Given the description of an element on the screen output the (x, y) to click on. 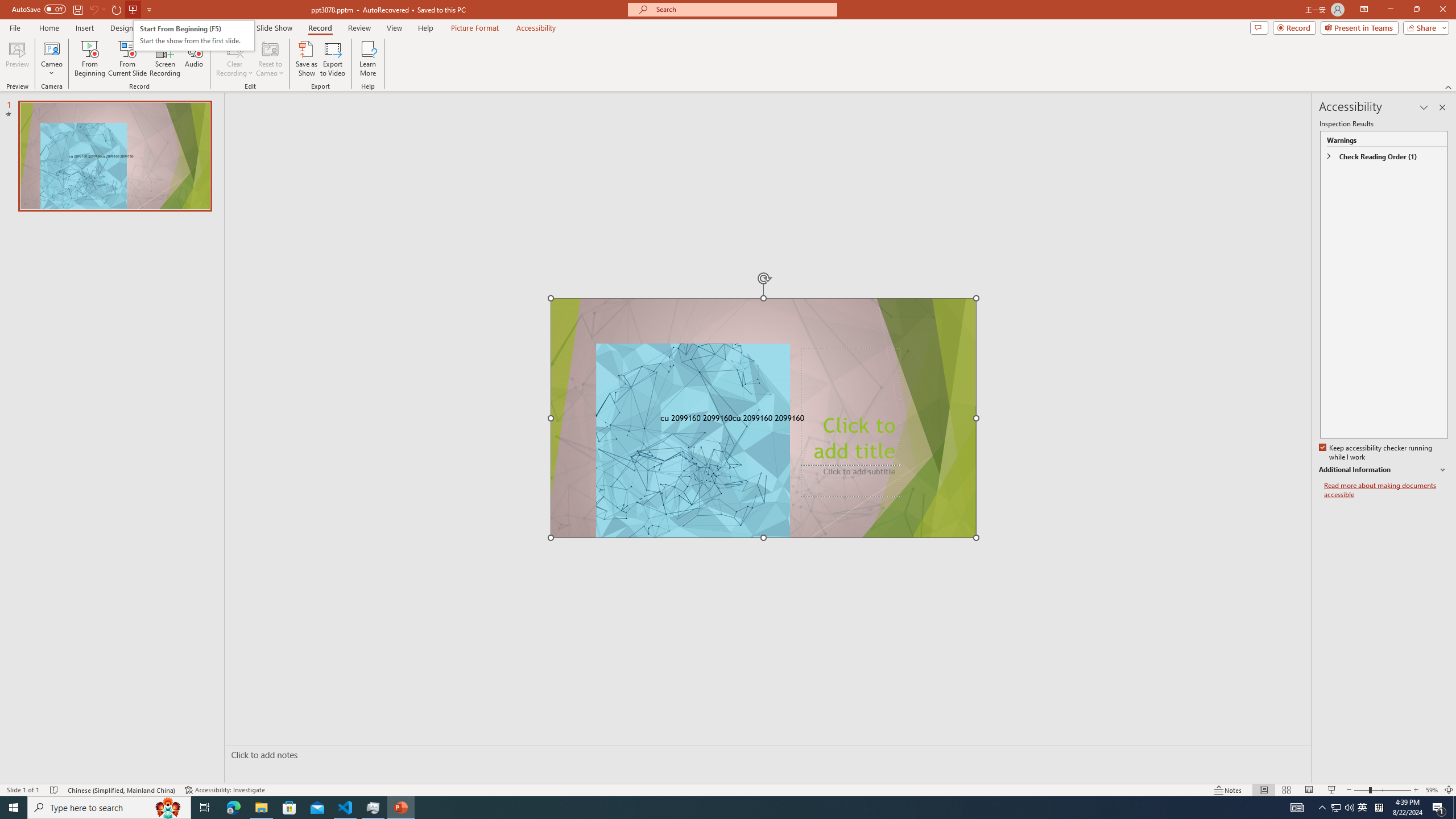
Picture Format (475, 28)
